Given the description of an element on the screen output the (x, y) to click on. 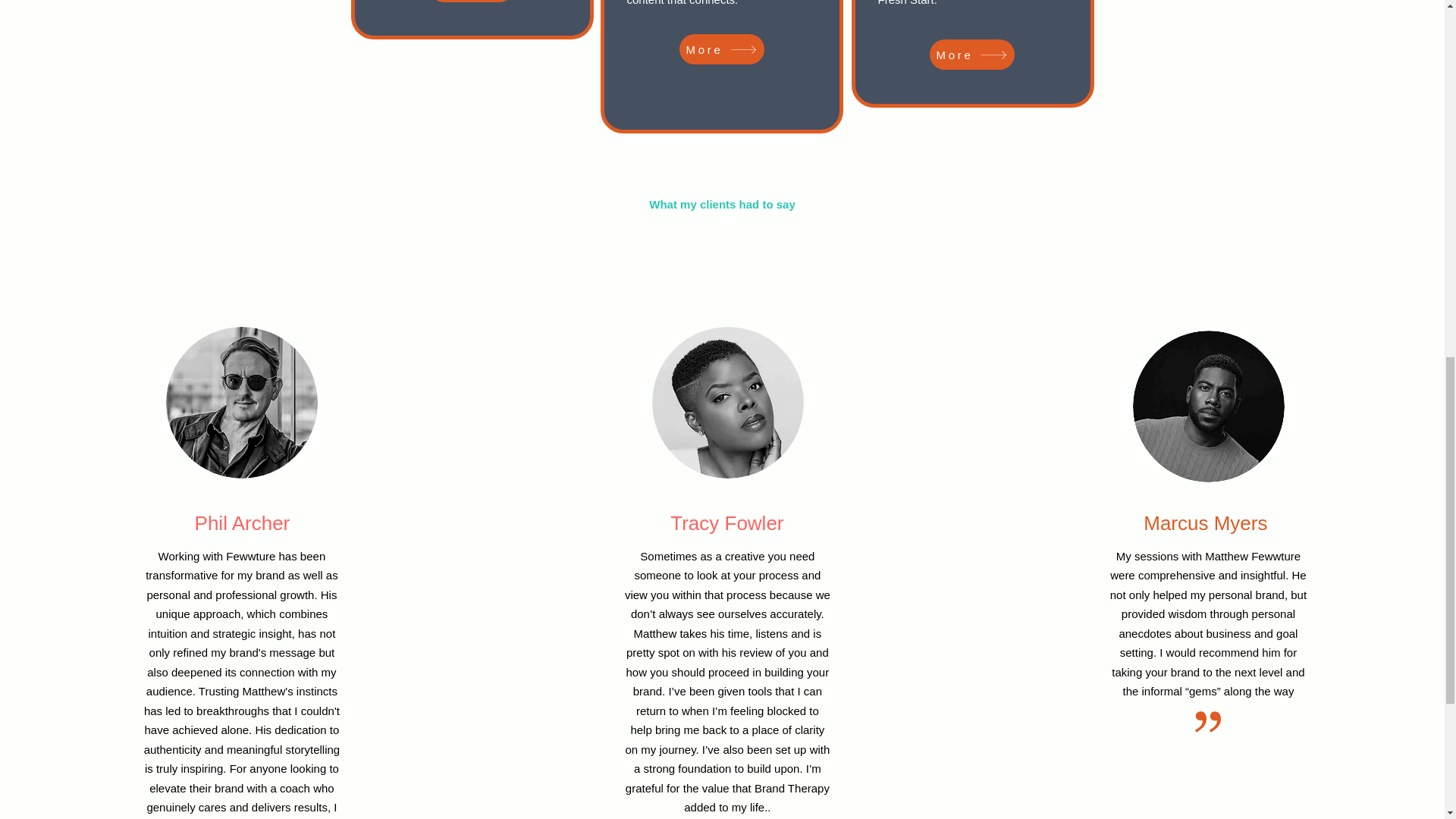
GettyImages-145680711.jpg (1208, 406)
GettyImages-535587703.jpg (241, 402)
More (972, 54)
GettyImages-124893619.jpg (727, 402)
More (721, 49)
More (471, 1)
